Given the description of an element on the screen output the (x, y) to click on. 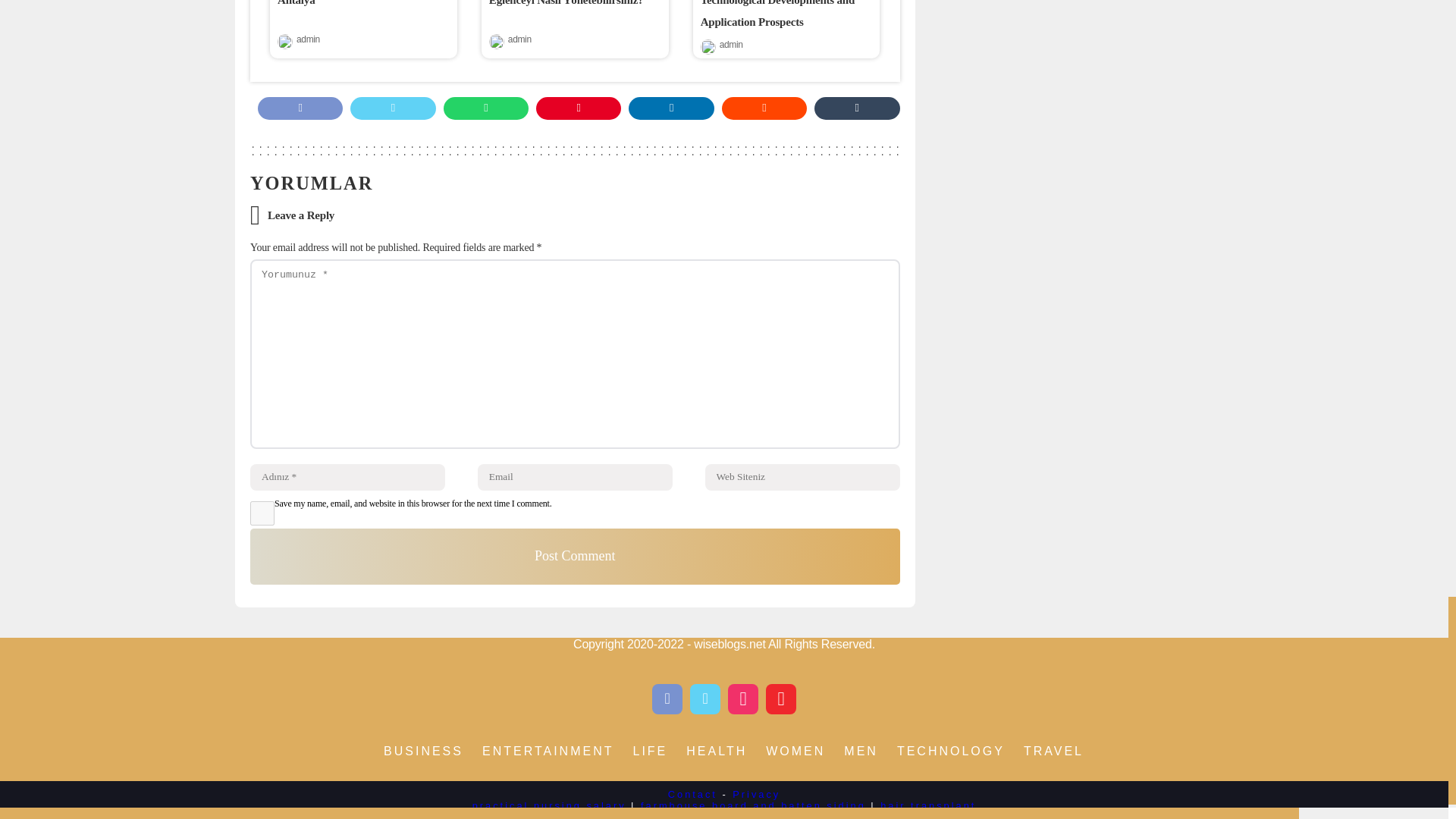
practical nursing salary (548, 805)
admin (308, 44)
All-On-Six Implant Treatment in Antalya (355, 2)
farmhouse board and batten siding (753, 805)
Post Comment (574, 556)
